Given the description of an element on the screen output the (x, y) to click on. 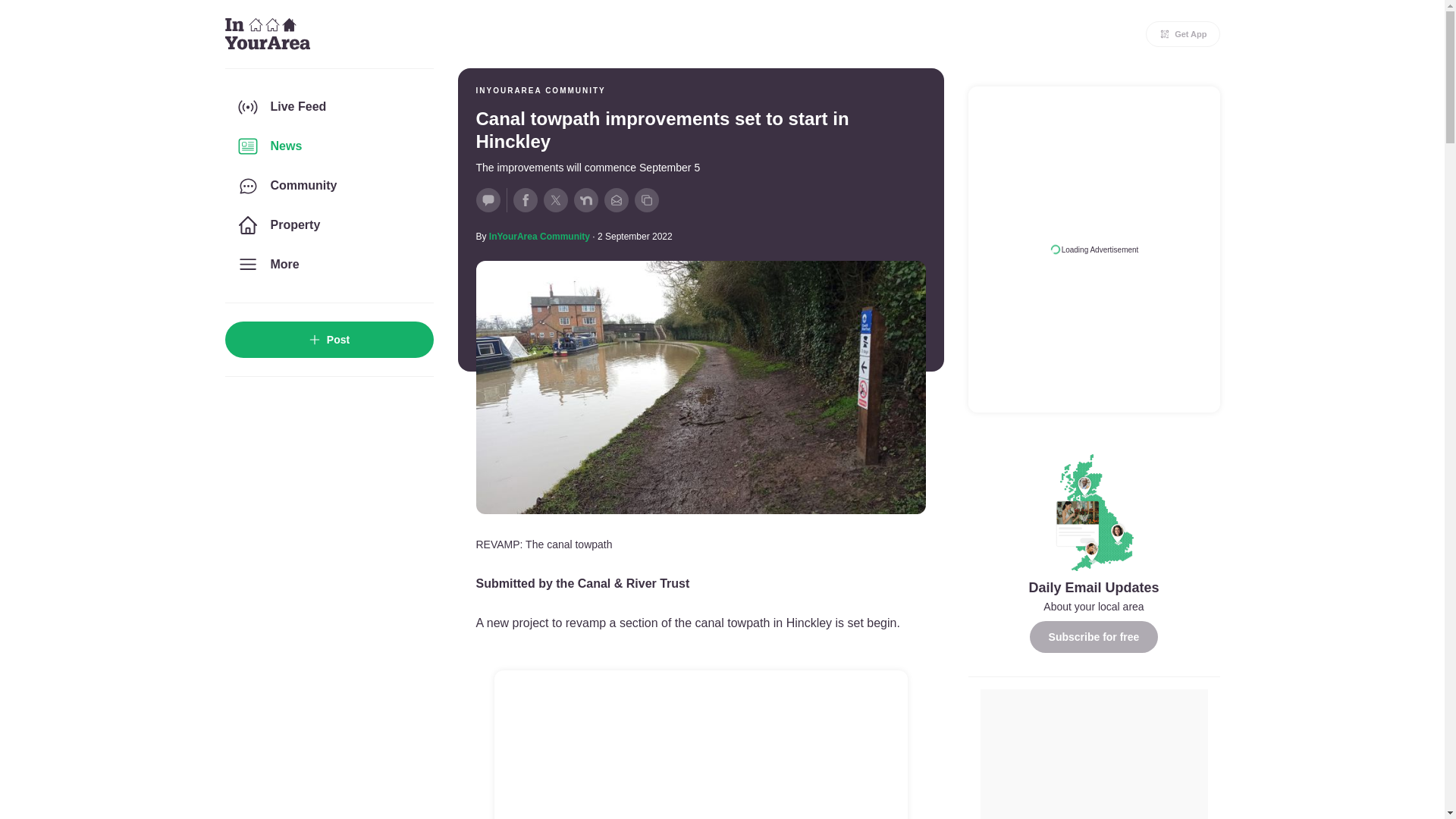
Property (328, 224)
Post (328, 339)
Share to email (615, 200)
News (328, 146)
Share to X (555, 200)
Get App (1182, 33)
Community (328, 185)
Copy to clipboard (645, 200)
INYOURAREA COMMUNITY (540, 90)
Live Feed (328, 106)
